Given the description of an element on the screen output the (x, y) to click on. 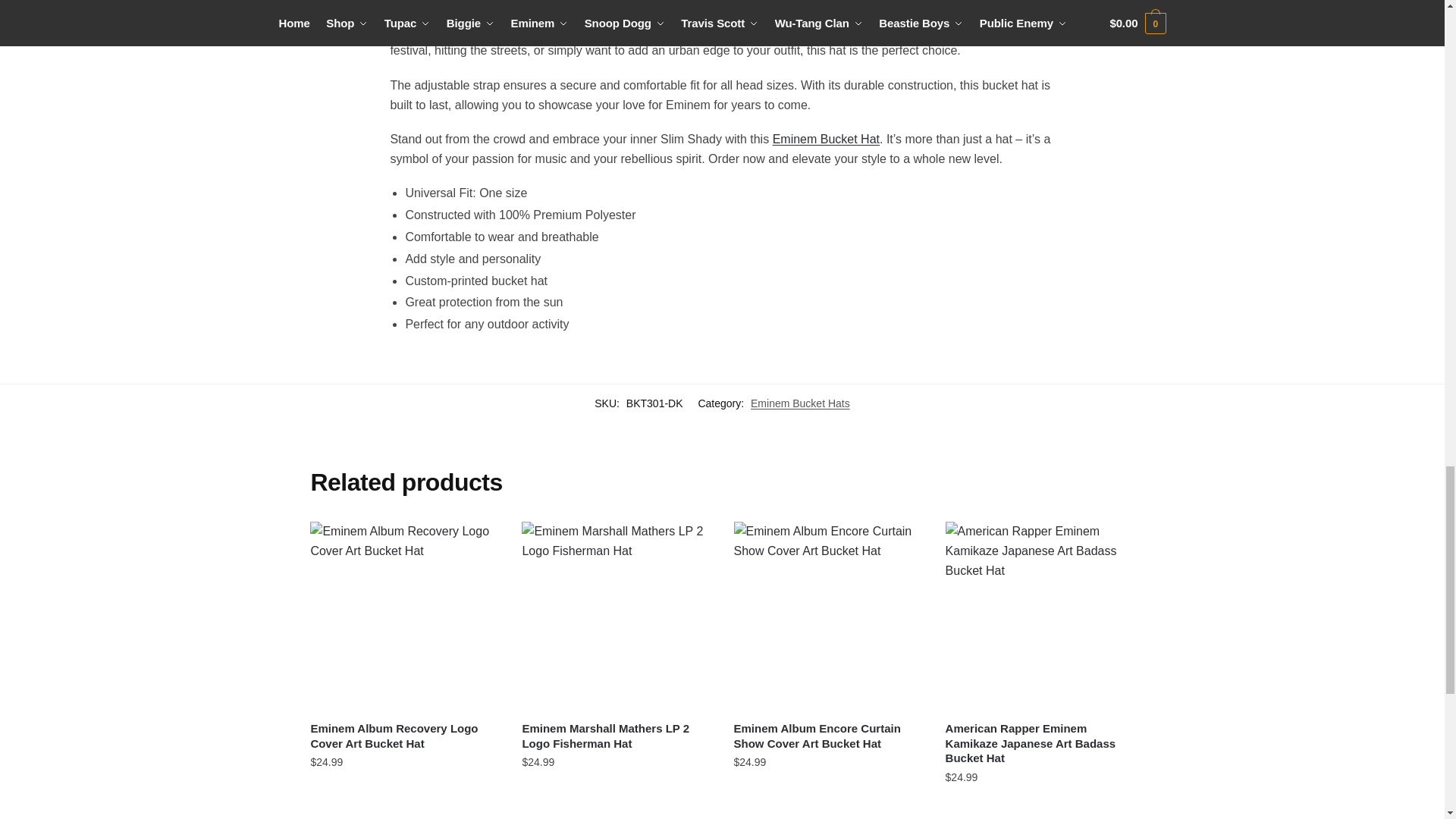
Eminem Marshall Mathers LP 2 Logo Fisherman Hat (615, 615)
Eminem Album Encore Curtain Show Cover Art Bucket Hat (828, 615)
Eminem Album Recovery Logo Cover Art Bucket Hat (404, 615)
